Given the description of an element on the screen output the (x, y) to click on. 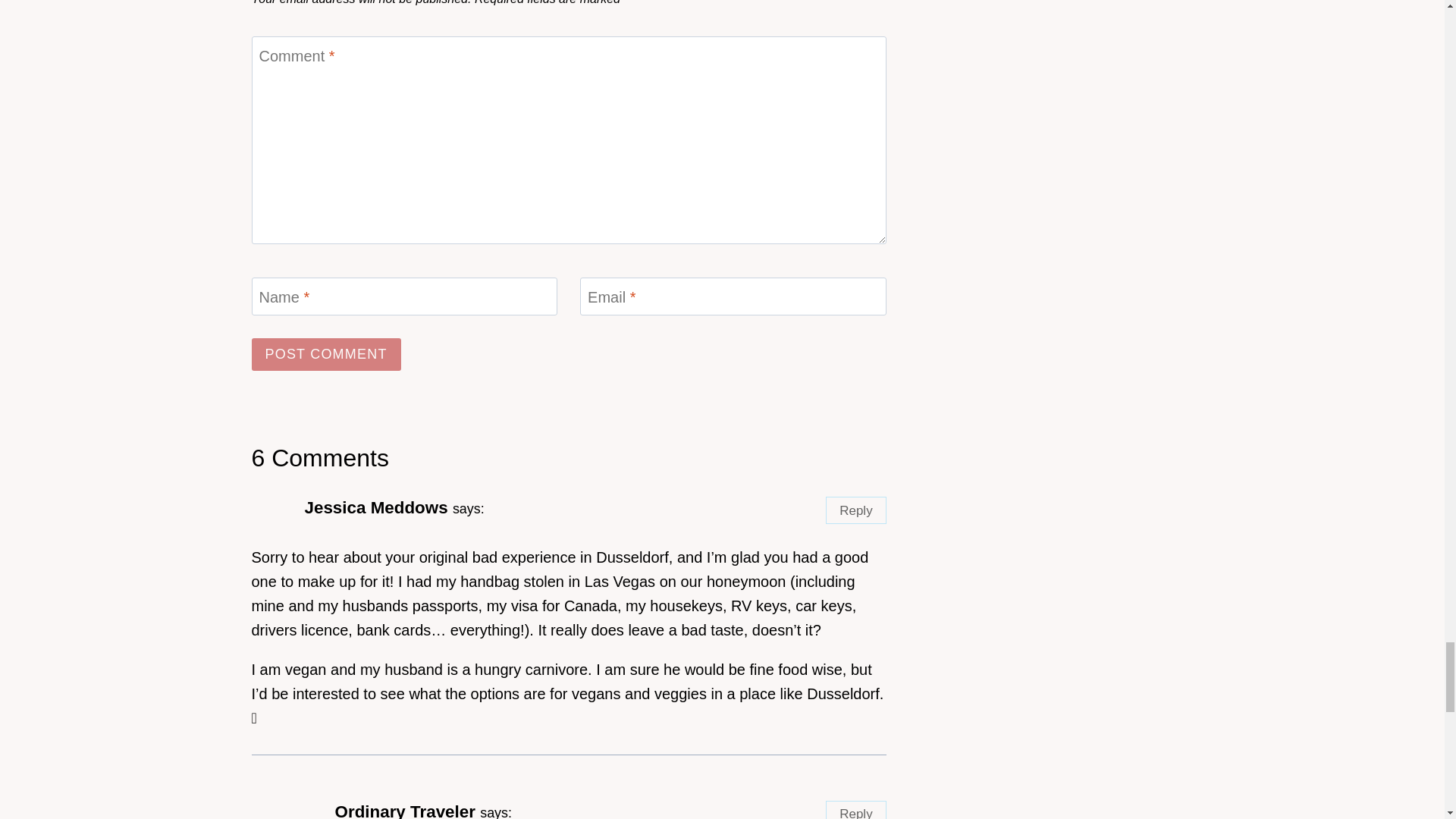
Post Comment (326, 354)
